Given the description of an element on the screen output the (x, y) to click on. 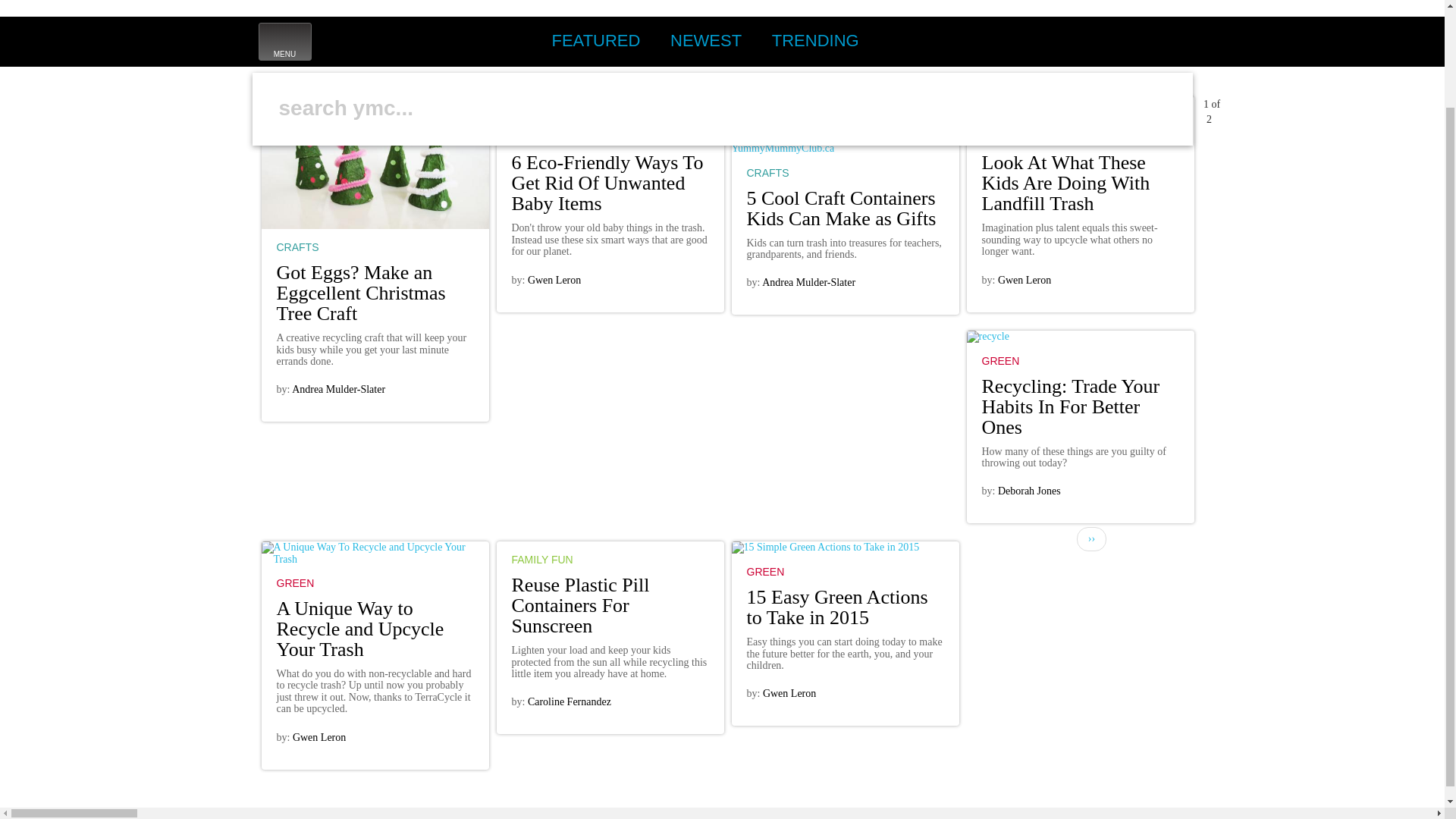
Home (355, 6)
RSS (1101, 40)
YouTube (1168, 40)
TRENDING (815, 40)
NEWEST (284, 41)
Twitter (705, 40)
Pinterest (1135, 40)
Instagram (1068, 40)
Search (1034, 40)
Facebook (275, 162)
SEARCH (1001, 40)
FEATURED (591, 90)
Enter the terms you wish to search for. (595, 40)
